Given the description of an element on the screen output the (x, y) to click on. 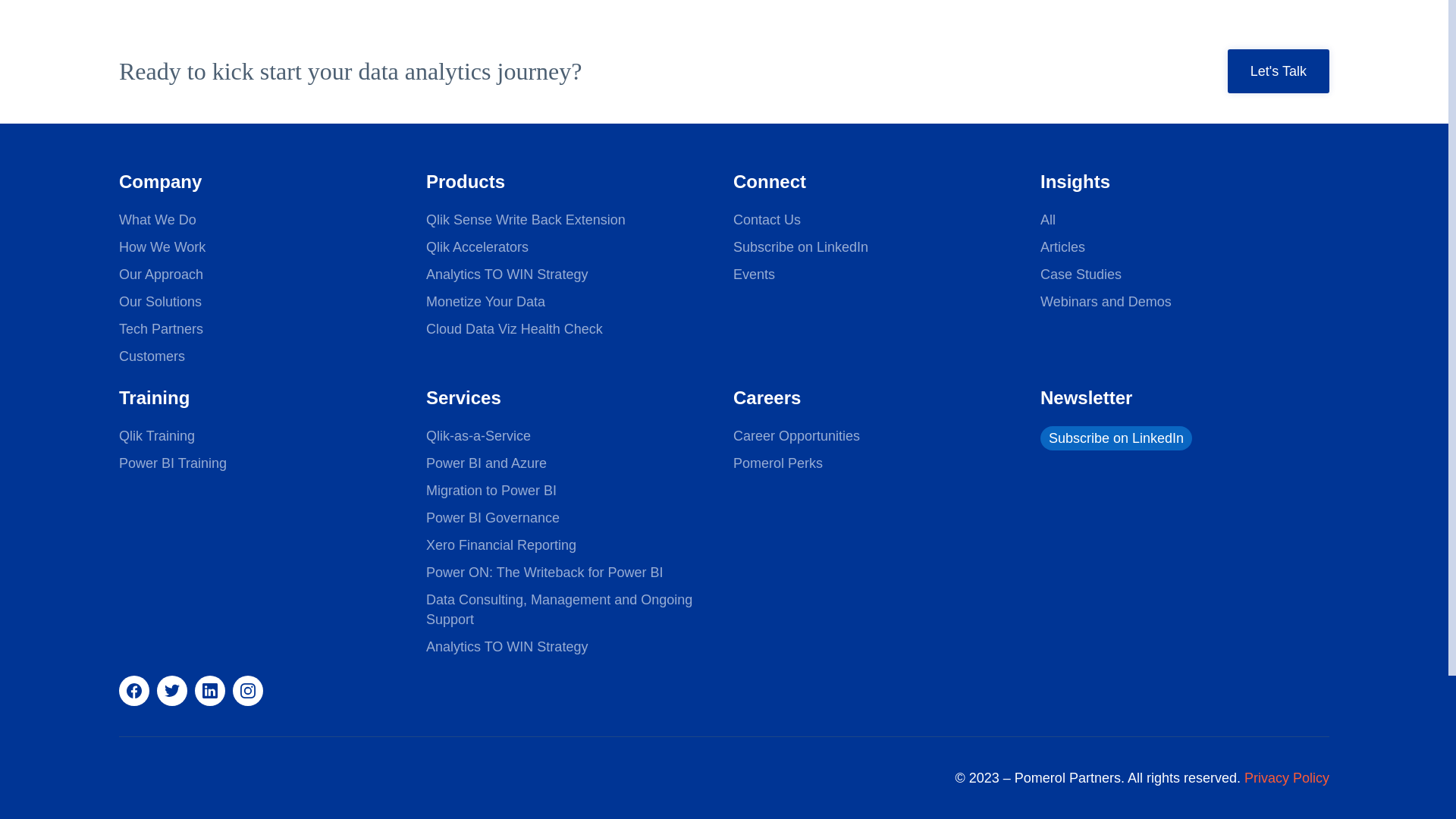
Instagram (247, 690)
Facebook (134, 690)
LinkedIn (210, 690)
Twitter (172, 690)
